Given the description of an element on the screen output the (x, y) to click on. 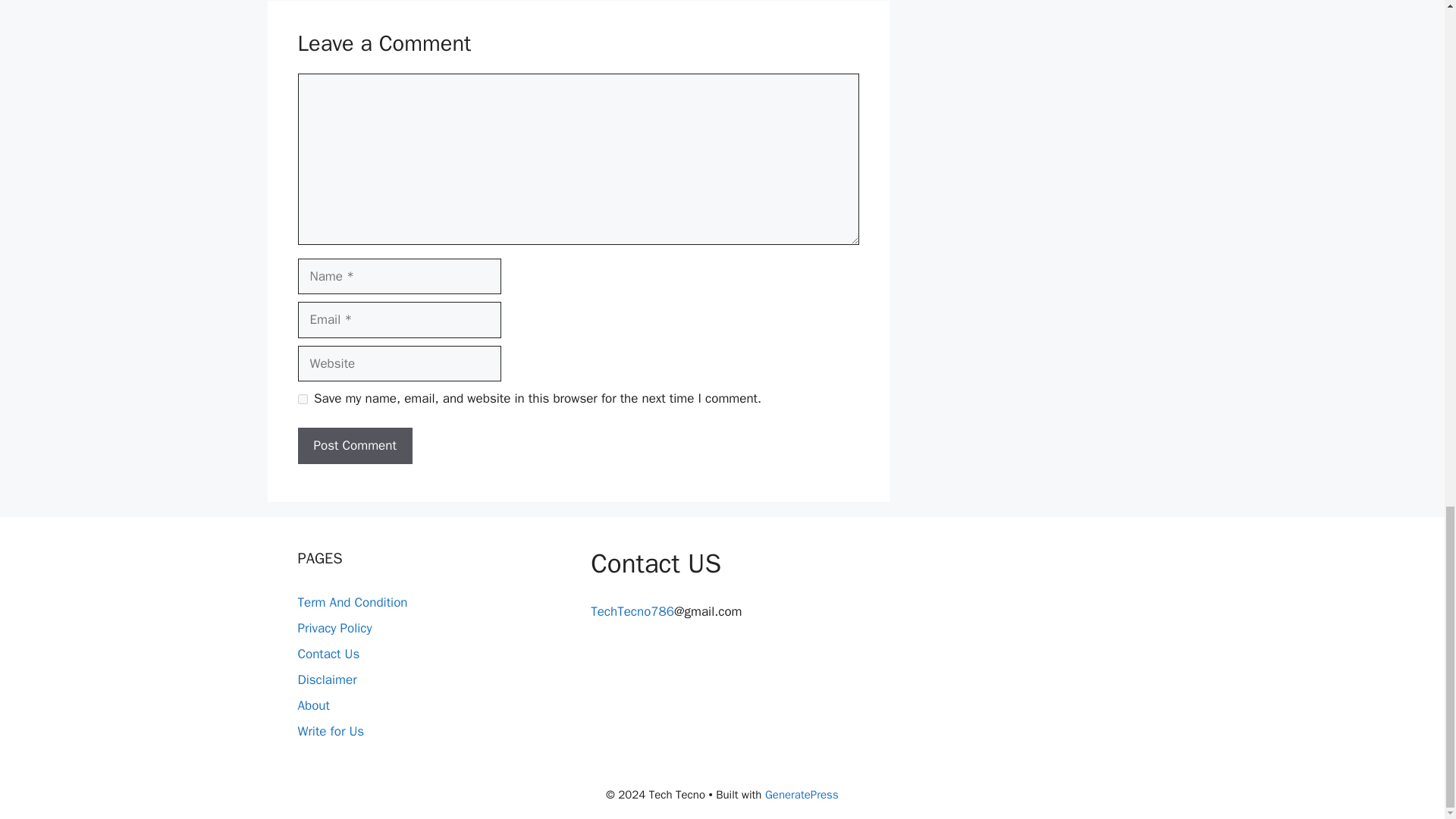
Post Comment (354, 445)
Post Comment (354, 445)
yes (302, 398)
